Given the description of an element on the screen output the (x, y) to click on. 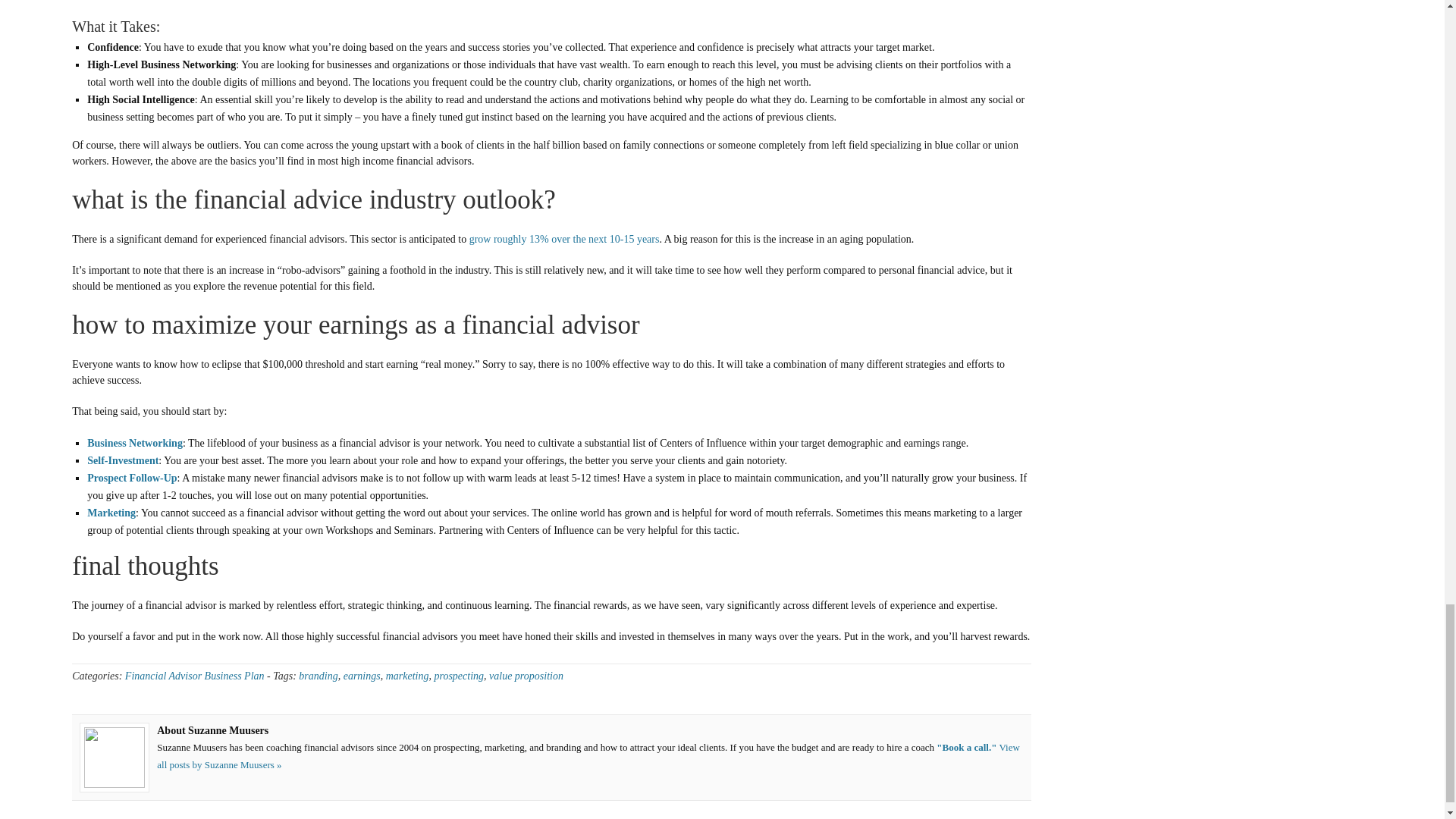
prospecting (458, 675)
Financial Advisor Business Plan (194, 675)
value proposition (526, 675)
Self-Investment (122, 460)
Marketing (111, 512)
earnings (361, 675)
marketing (407, 675)
Prospect Follow-Up (131, 478)
Business Networking (135, 442)
"Book a call." (965, 747)
